Given the description of an element on the screen output the (x, y) to click on. 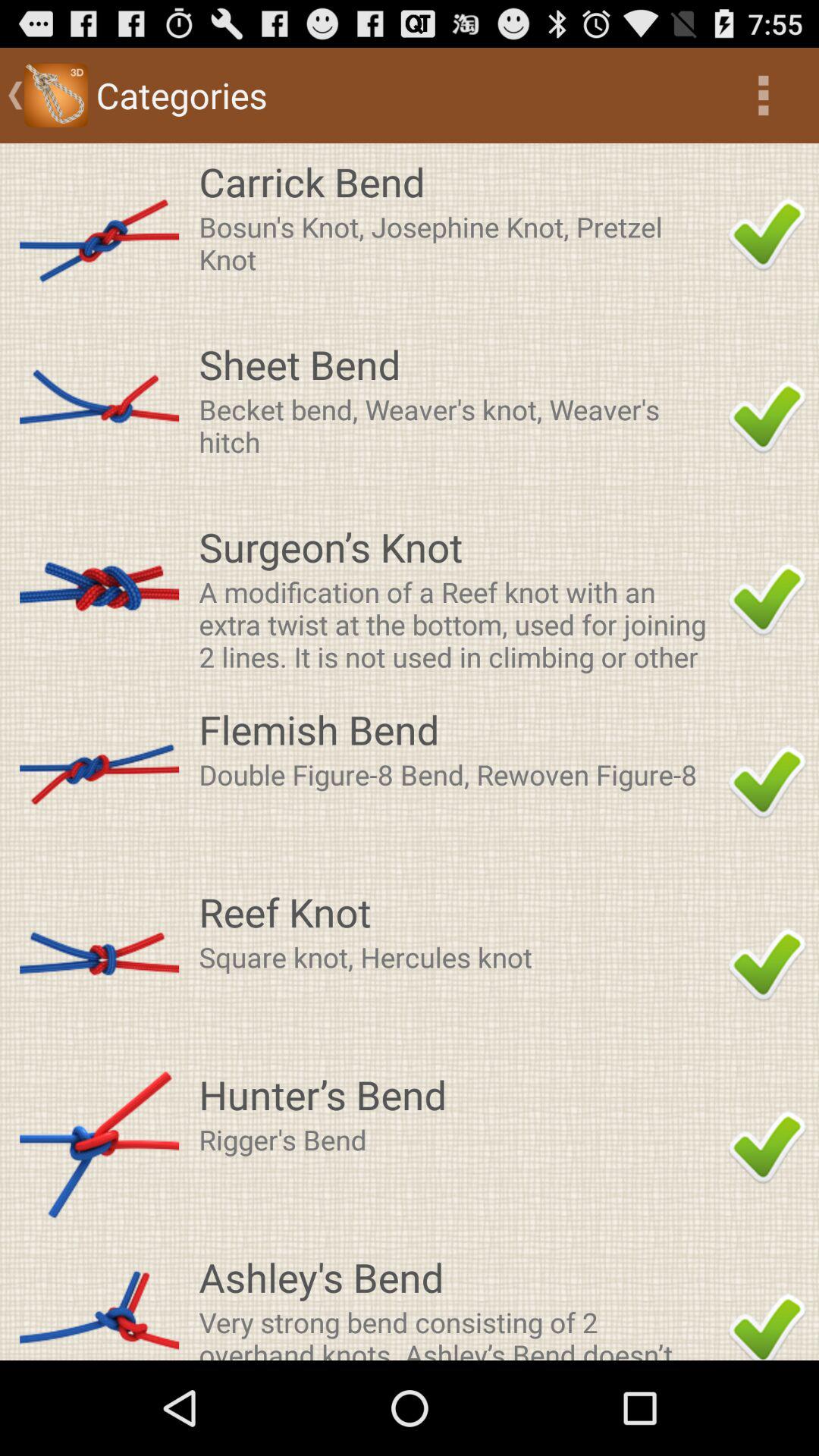
jump until double figure 8 (459, 774)
